Given the description of an element on the screen output the (x, y) to click on. 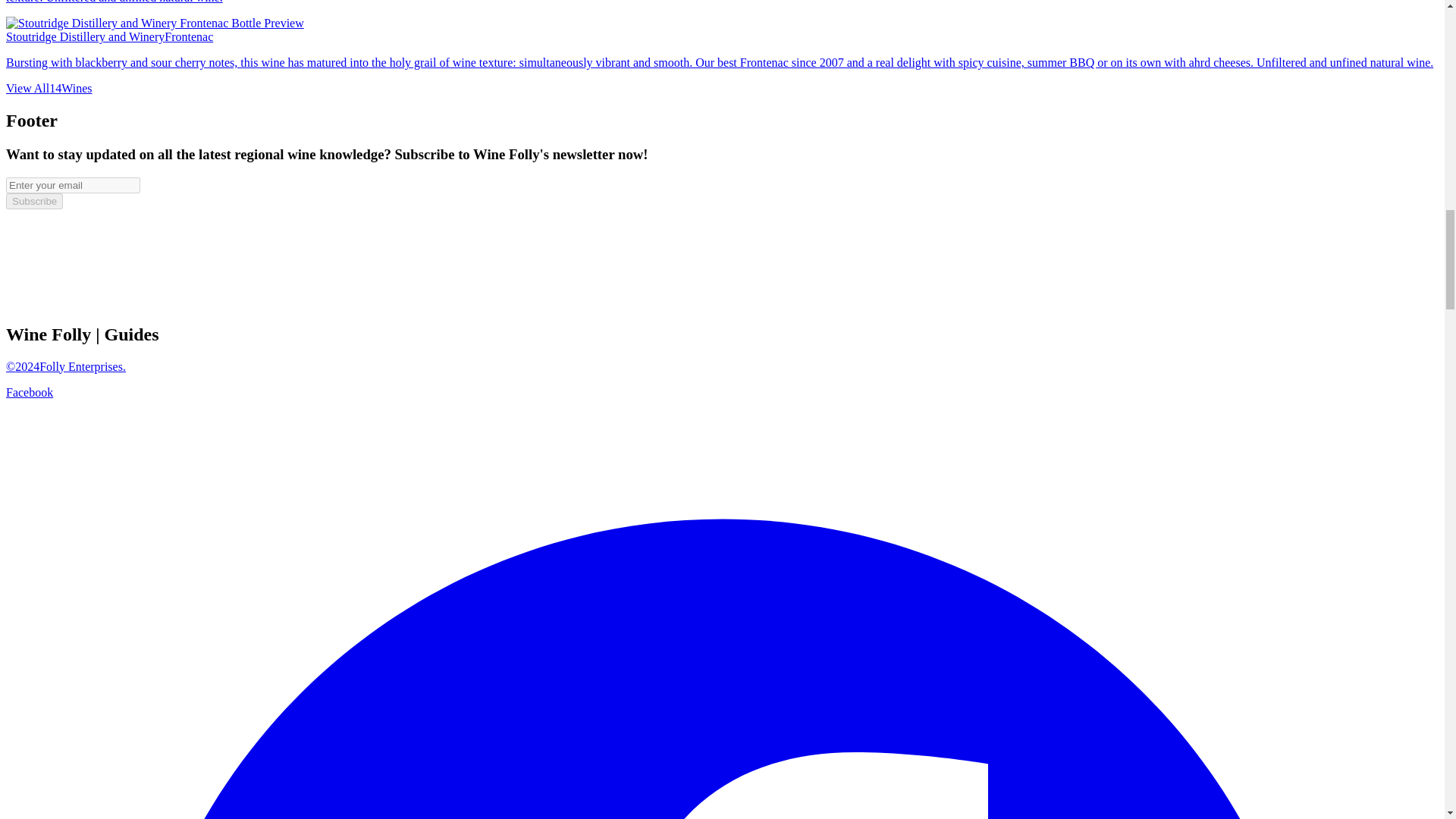
Subscribe (33, 201)
View All14Wines (49, 88)
